Given the description of an element on the screen output the (x, y) to click on. 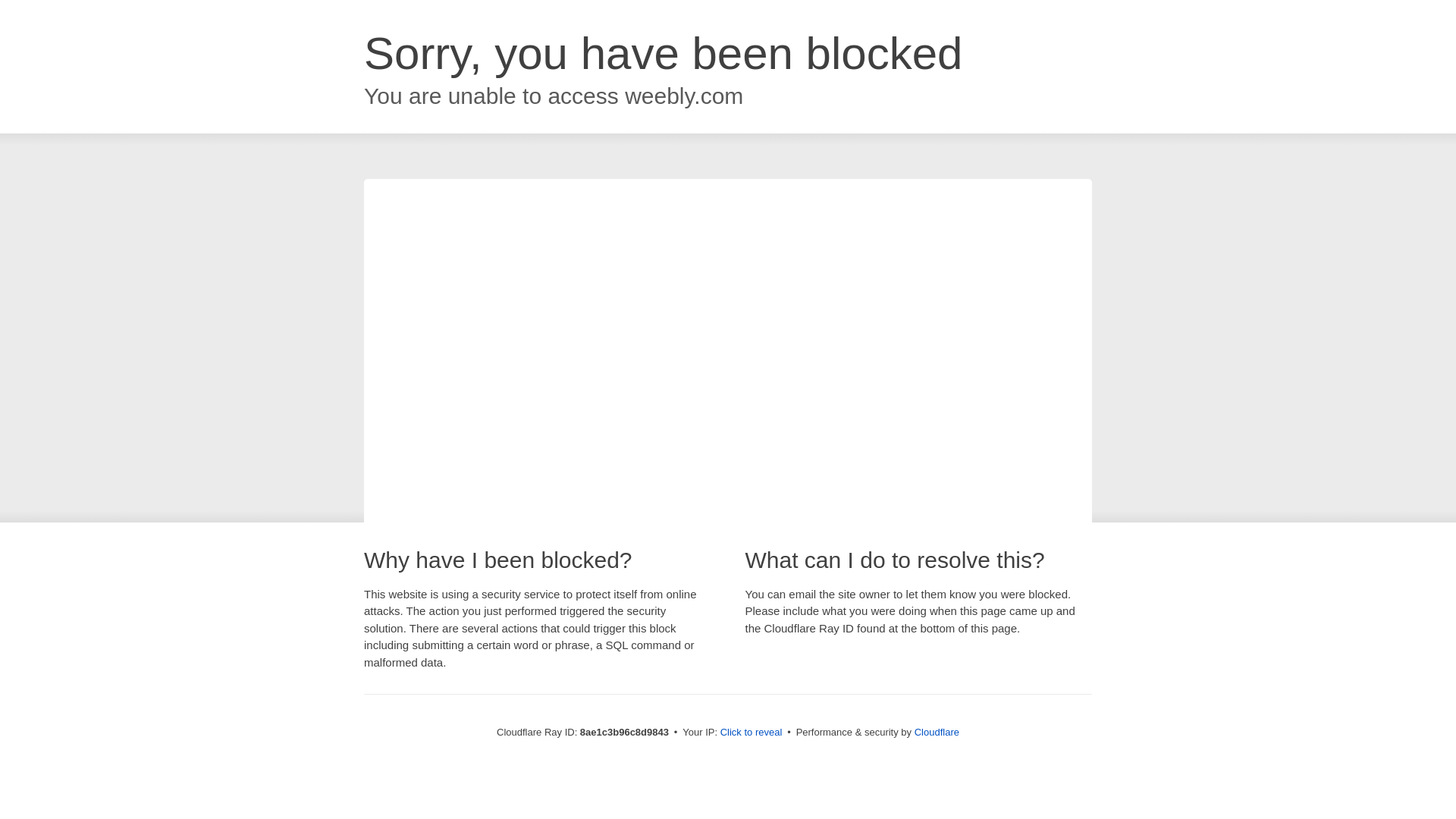
Click to reveal (751, 732)
Cloudflare (936, 731)
